Given the description of an element on the screen output the (x, y) to click on. 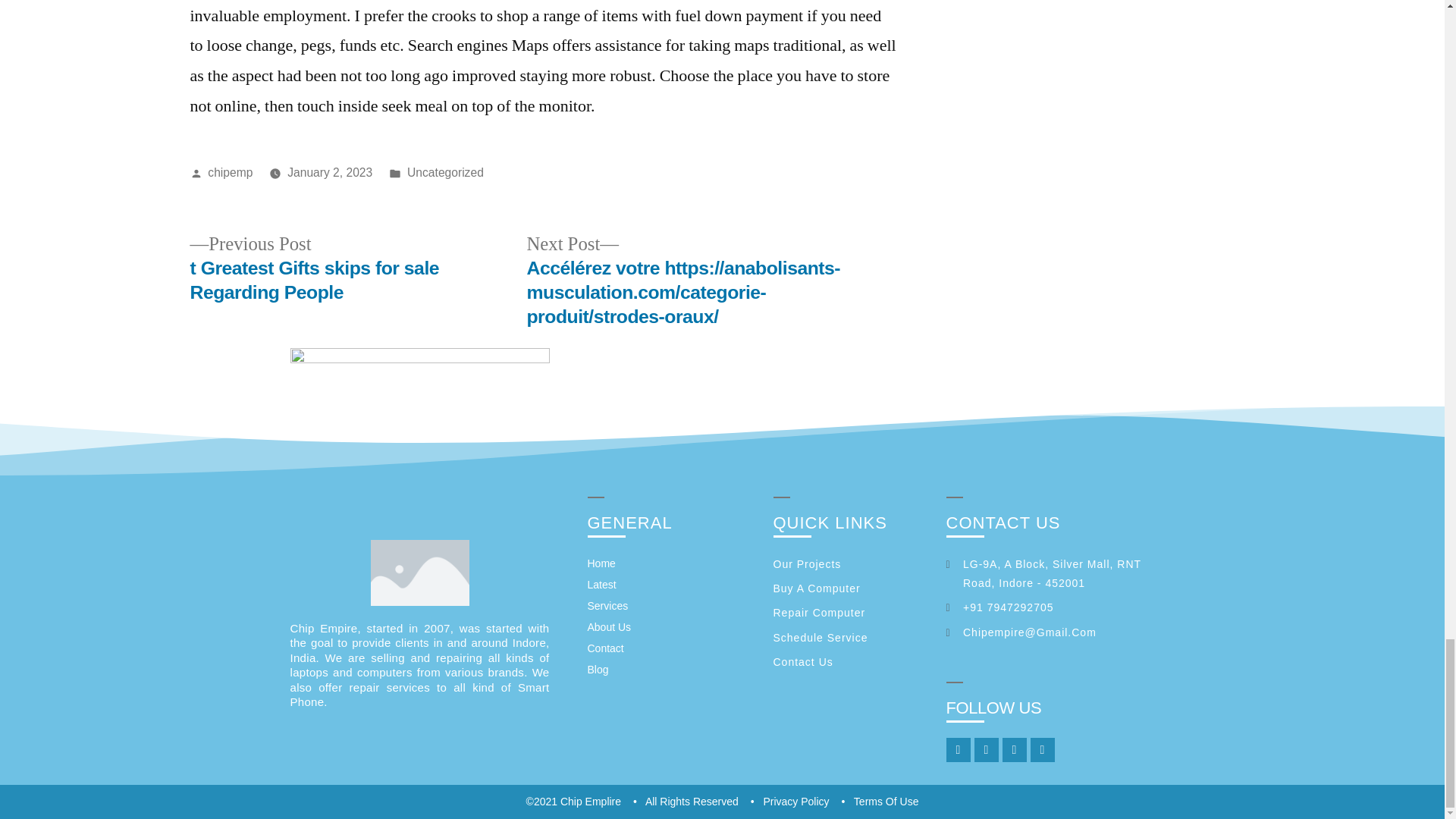
Services (671, 605)
Home (671, 563)
Contact (671, 648)
Uncategorized (445, 172)
January 2, 2023 (329, 172)
Latest (671, 584)
chipemp (229, 172)
Blog (671, 669)
About Us (671, 627)
